Given the description of an element on the screen output the (x, y) to click on. 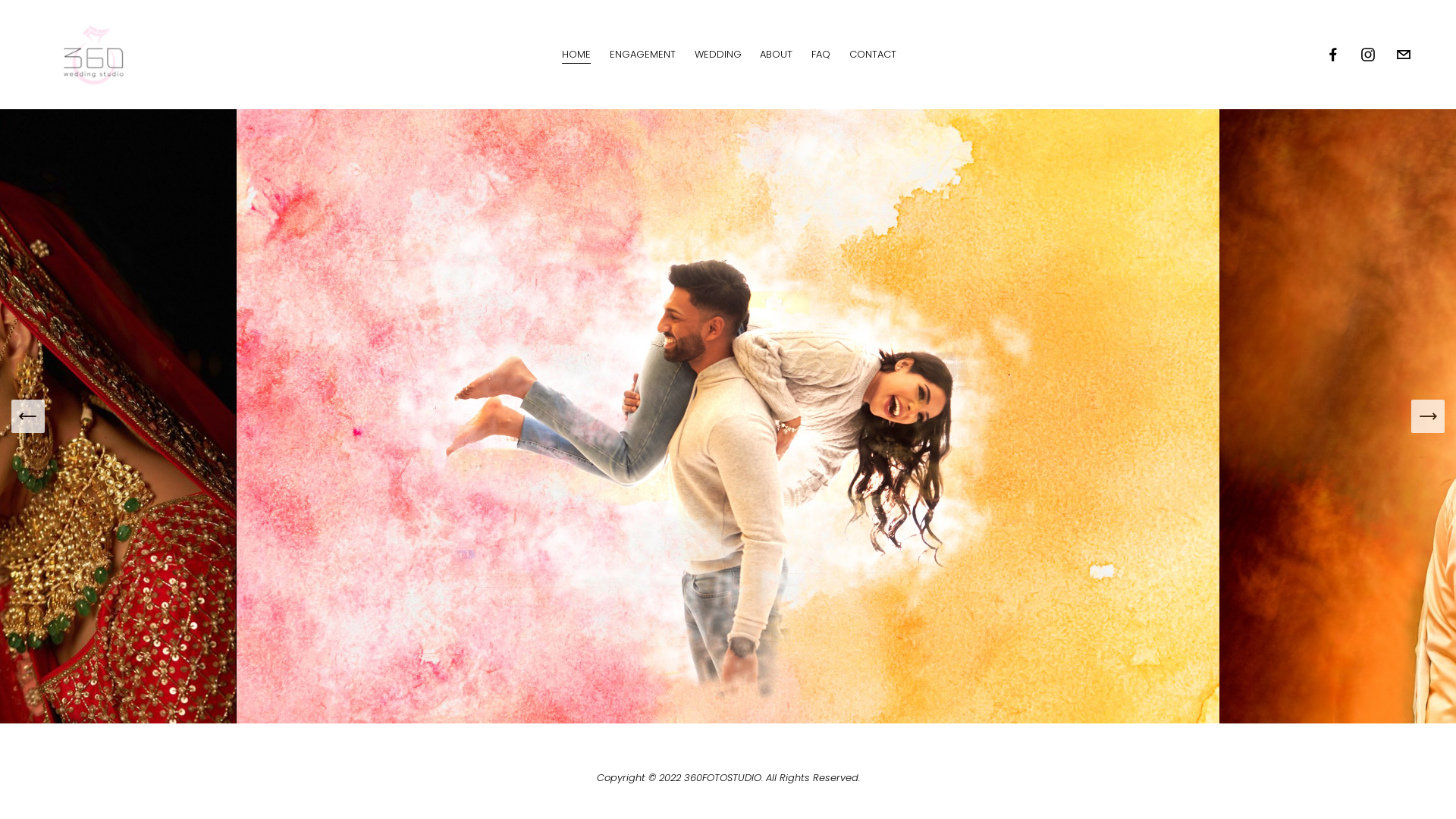
WEDDING Element type: text (717, 54)
FAQ Element type: text (820, 54)
ENGAGEMENT Element type: text (642, 54)
HOME Element type: text (575, 54)
ABOUT Element type: text (775, 54)
CONTACT Element type: text (872, 54)
